Given the description of an element on the screen output the (x, y) to click on. 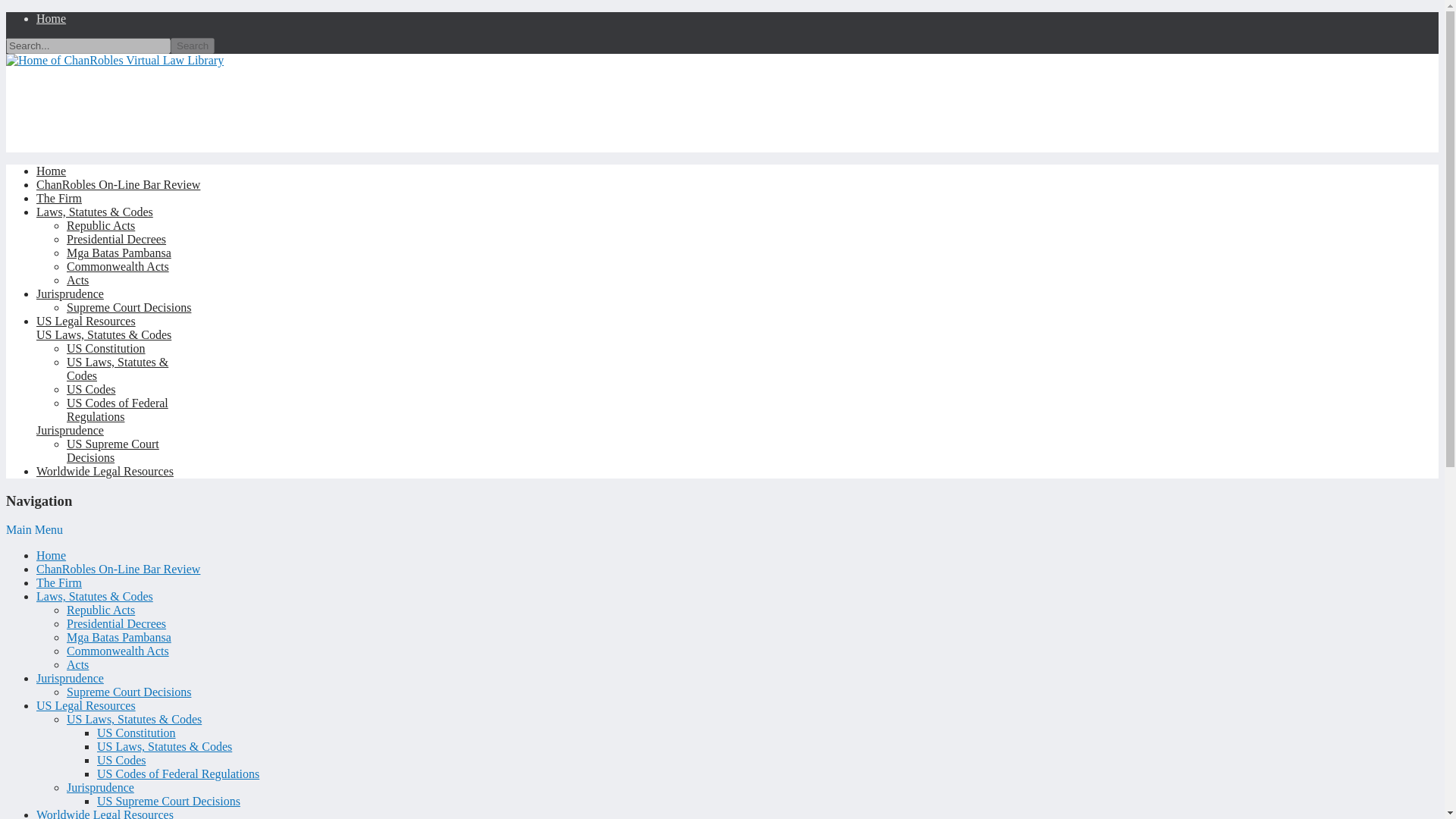
US Constitution (136, 732)
Home (50, 170)
Worldwide Legal Resources (104, 471)
Mga Batas Pambansa (118, 252)
ChanRobles On-Line Bar Review (118, 184)
Search... (87, 45)
US Legal Resources (85, 705)
Presidential Decrees (115, 238)
US Codes (90, 389)
US Codes of Federal Regulations (117, 409)
